Given the description of an element on the screen output the (x, y) to click on. 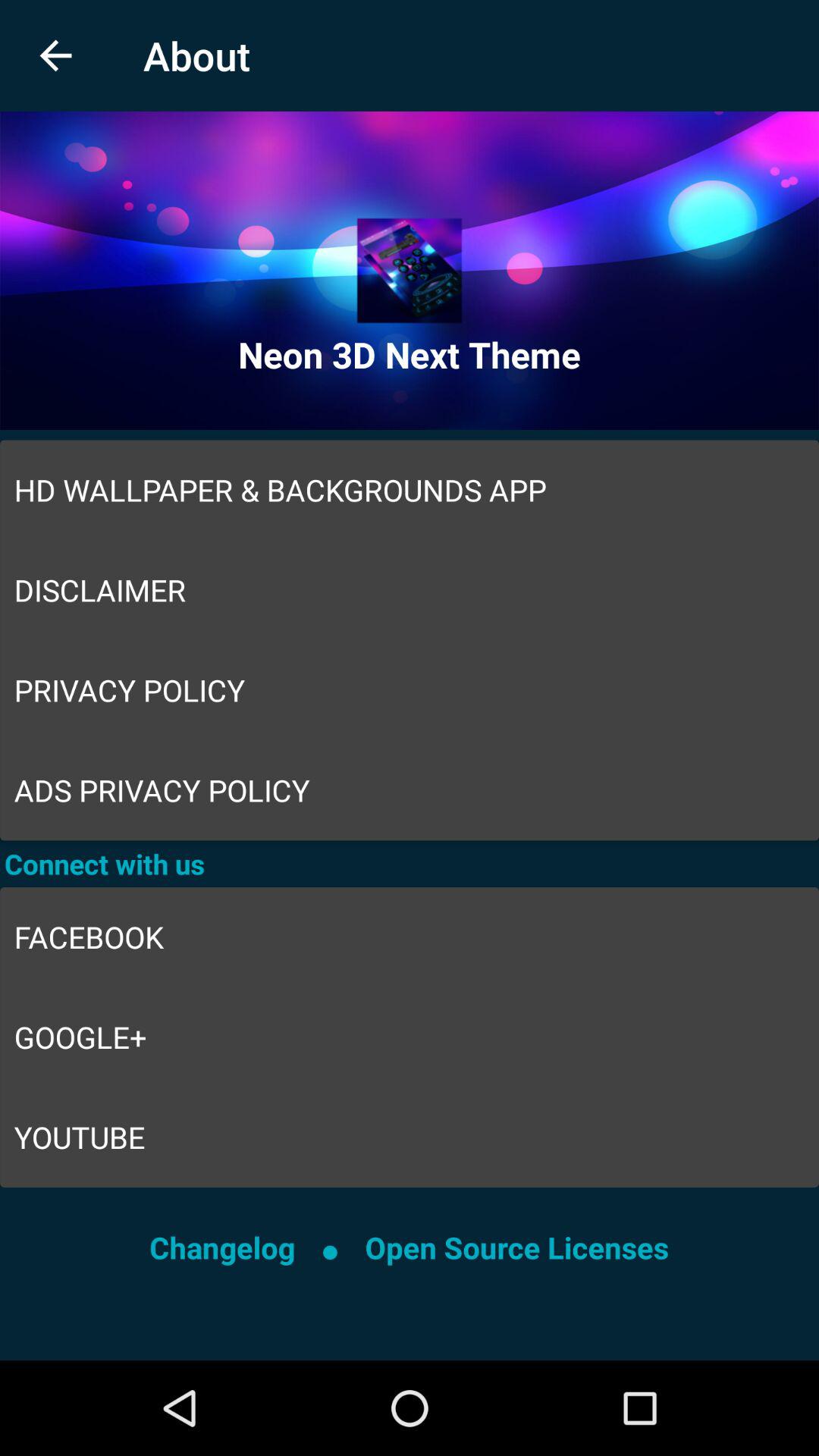
choose the item below the youtube icon (516, 1247)
